Given the description of an element on the screen output the (x, y) to click on. 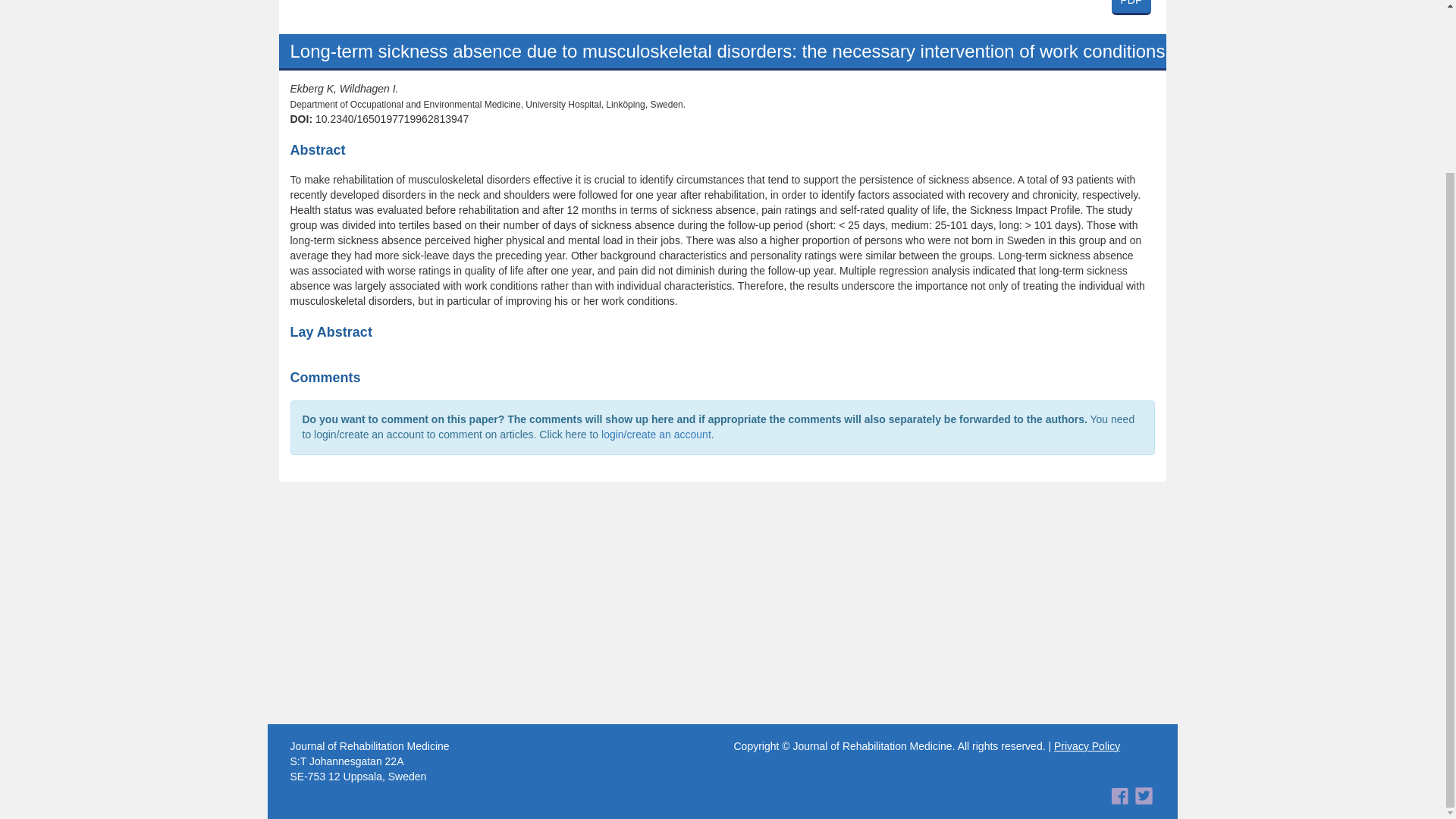
Privacy Policy (1086, 746)
PDF (722, 17)
Advertisement (1131, 7)
